Given the description of an element on the screen output the (x, y) to click on. 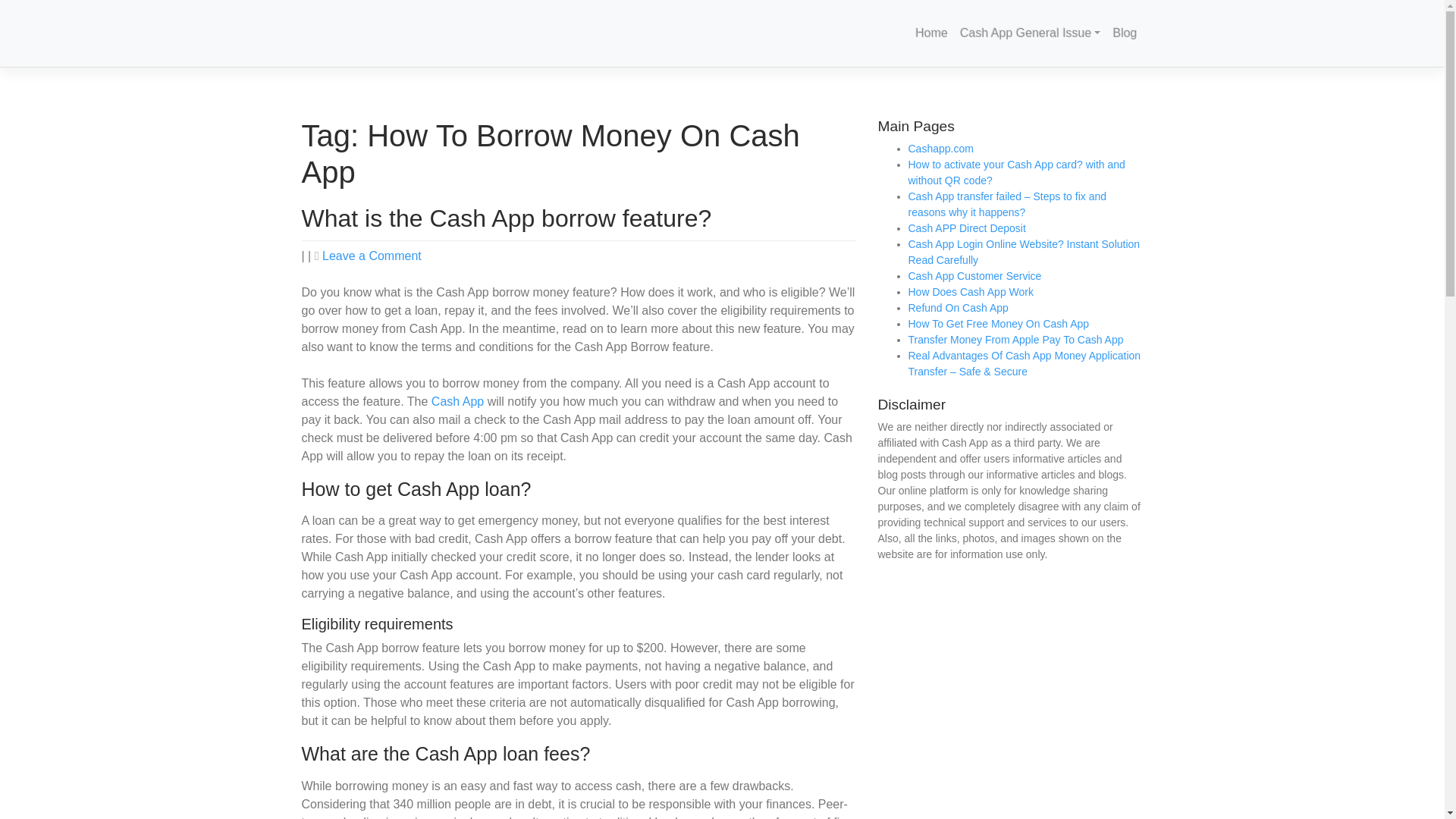
Cash APP Direct Deposit (967, 227)
What is the Cash App borrow feature? (506, 217)
Home (930, 33)
Cash App General Issue (1029, 33)
Blog (1124, 33)
Cash App (456, 400)
Blog (1124, 33)
Cash App General Issue (1029, 33)
Home (930, 33)
Cashapp.com (371, 255)
